Given the description of an element on the screen output the (x, y) to click on. 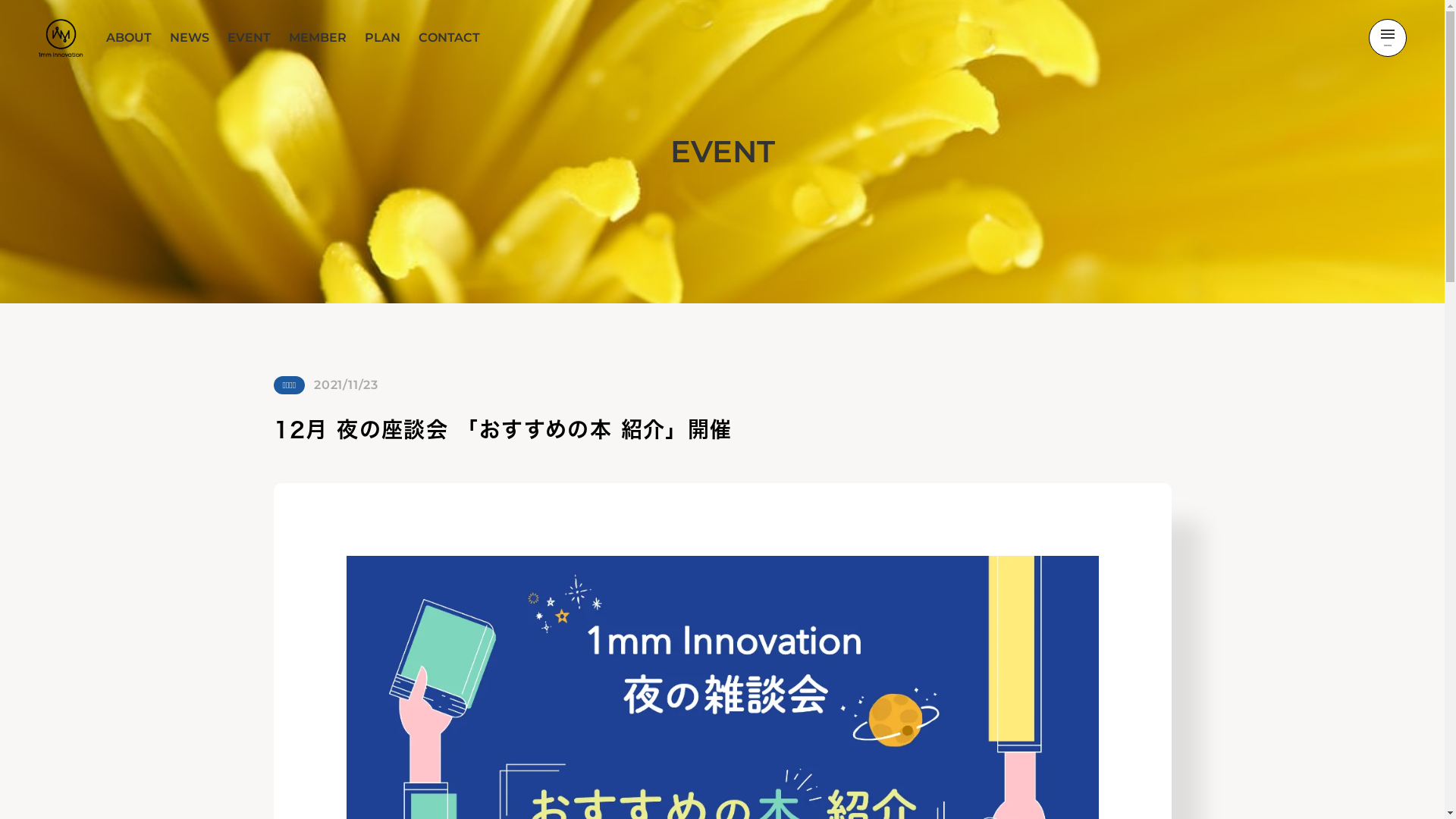
PLAN Element type: text (382, 37)
MEMBER Element type: text (317, 37)
NEWS Element type: text (189, 37)
ABOUT Element type: text (128, 37)
EVENT Element type: text (248, 37)
CONTACT Element type: text (449, 37)
menu
memu Element type: text (1387, 37)
